Given the description of an element on the screen output the (x, y) to click on. 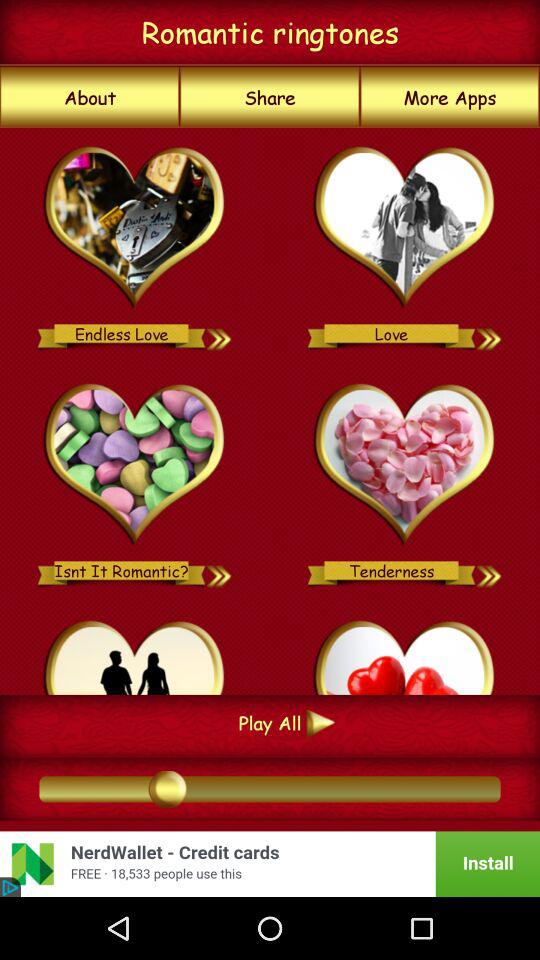
select ringtone (490, 333)
